Given the description of an element on the screen output the (x, y) to click on. 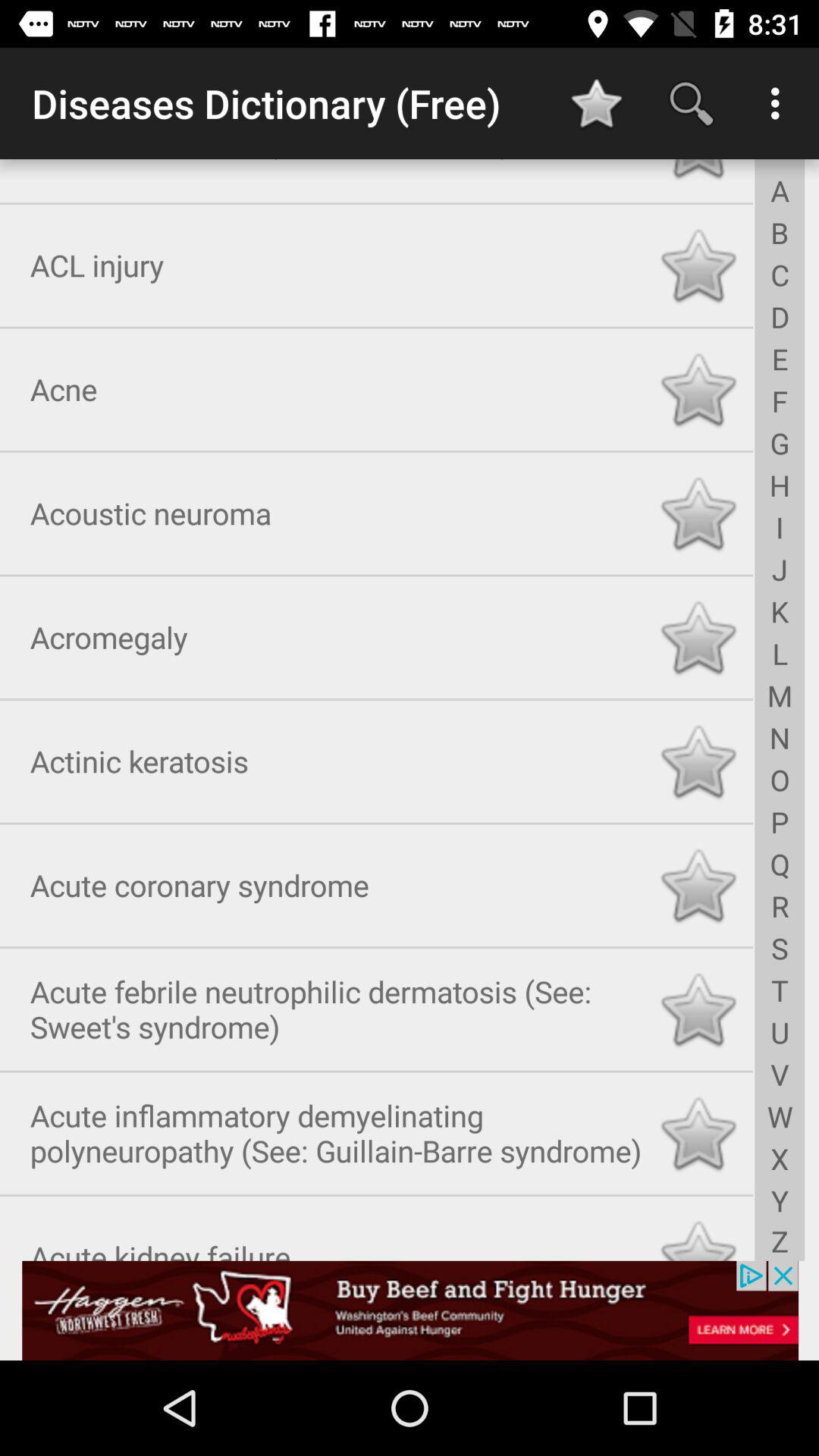
favourites (697, 1234)
